Given the description of an element on the screen output the (x, y) to click on. 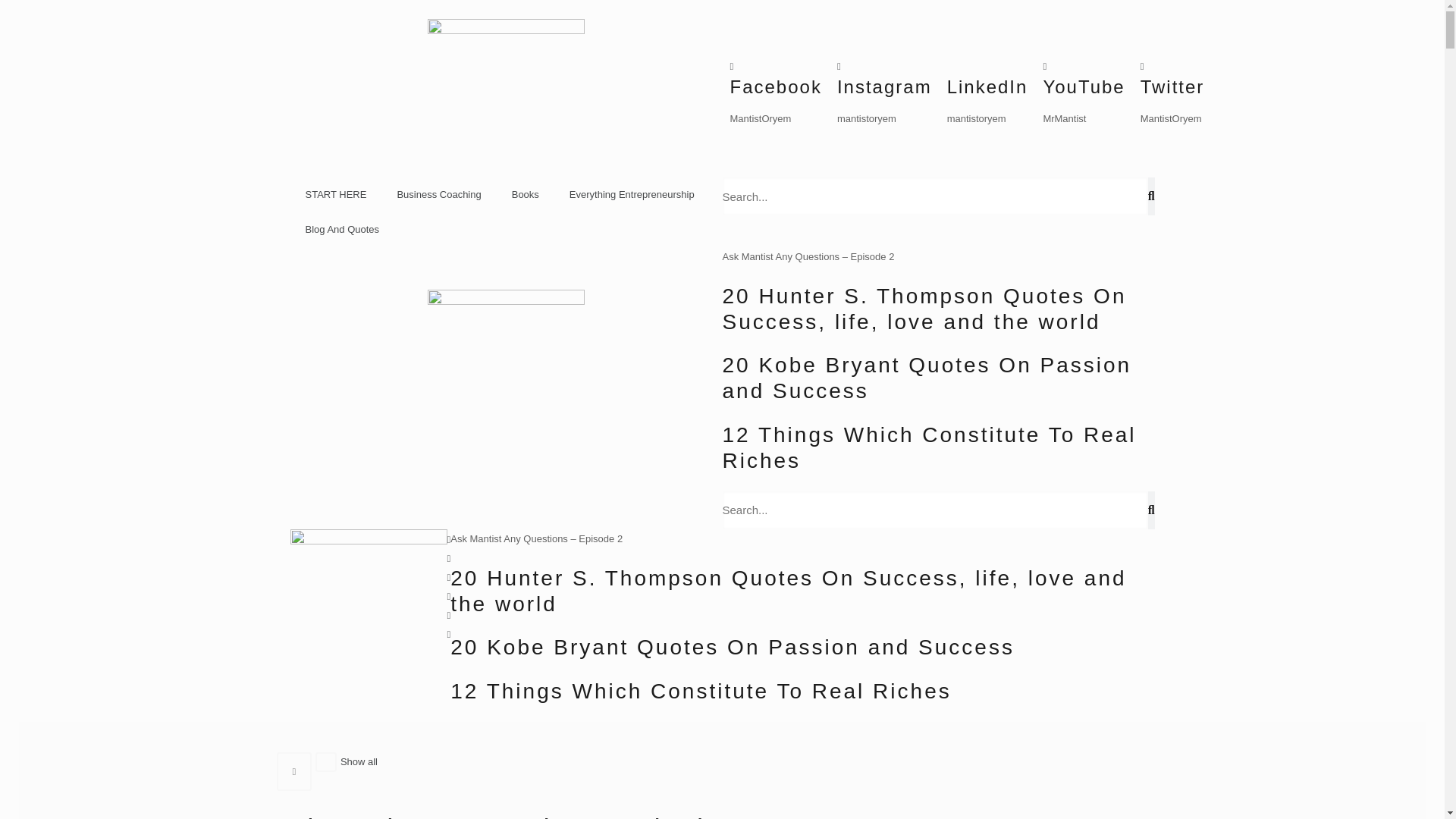
Everything Entrepreneurship (632, 194)
12 Things Which Constitute To Real Riches (699, 690)
YouTube (1083, 86)
20 Kobe Bryant Quotes On Passion and Success (731, 647)
Books (525, 194)
START HERE (335, 194)
Blog And Quotes (341, 229)
LinkedIn (987, 86)
20 Kobe Bryant Quotes On Passion and Success (926, 377)
Twitter (1172, 86)
Instagram (884, 86)
Facebook (775, 86)
Business Coaching (438, 194)
